Given the description of an element on the screen output the (x, y) to click on. 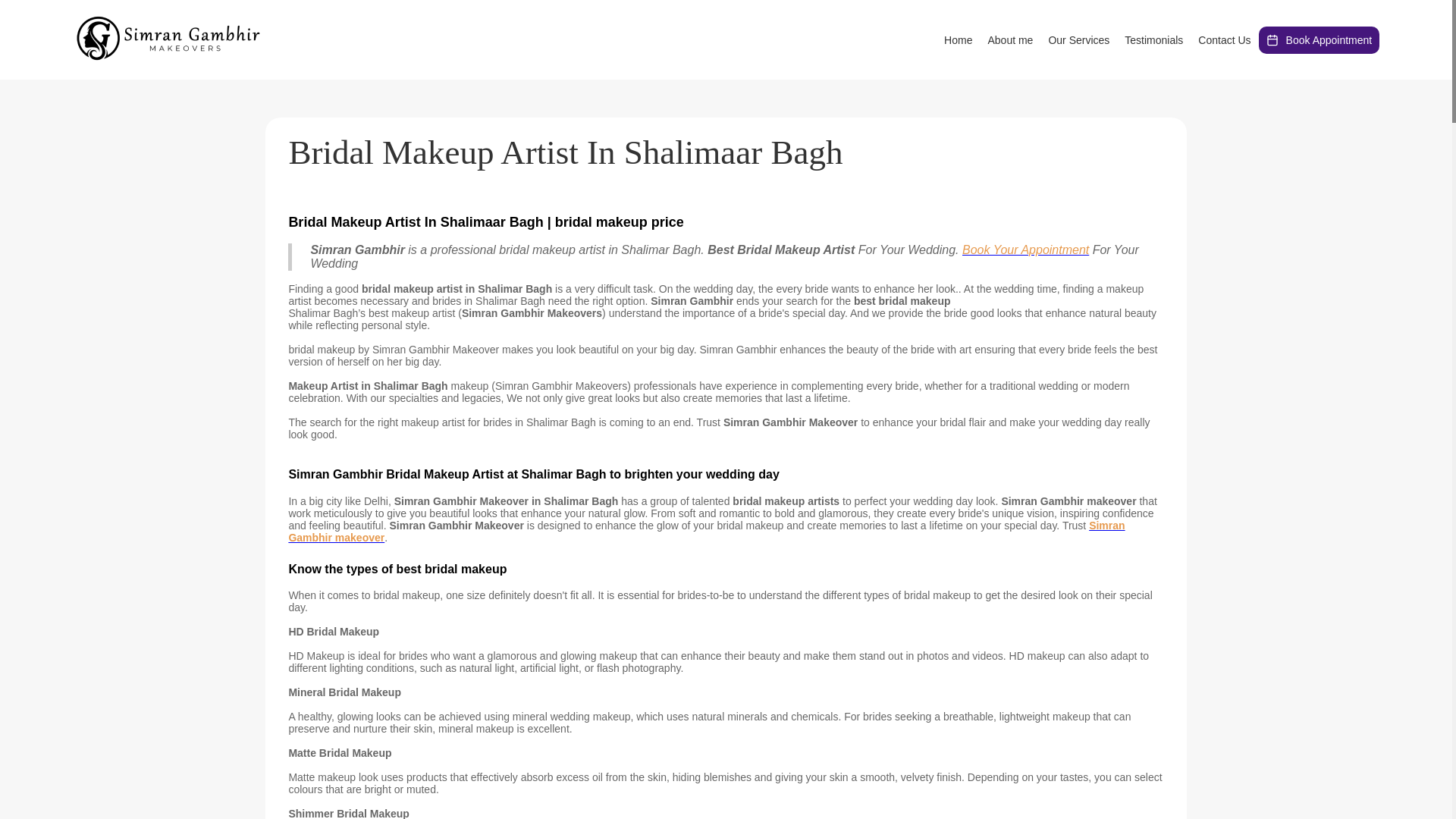
Home (957, 39)
Book Appointment (1319, 39)
Our Services (1078, 39)
Book Your Appointment (1025, 250)
Blogs (1153, 39)
Simran Gambhir makeover (706, 531)
Appointment (1319, 39)
About me (1009, 39)
Home (957, 39)
Contact Me (1224, 39)
Our Services (1078, 39)
About me (1009, 39)
Testimonials (1153, 39)
Contact Us (1224, 39)
